Given the description of an element on the screen output the (x, y) to click on. 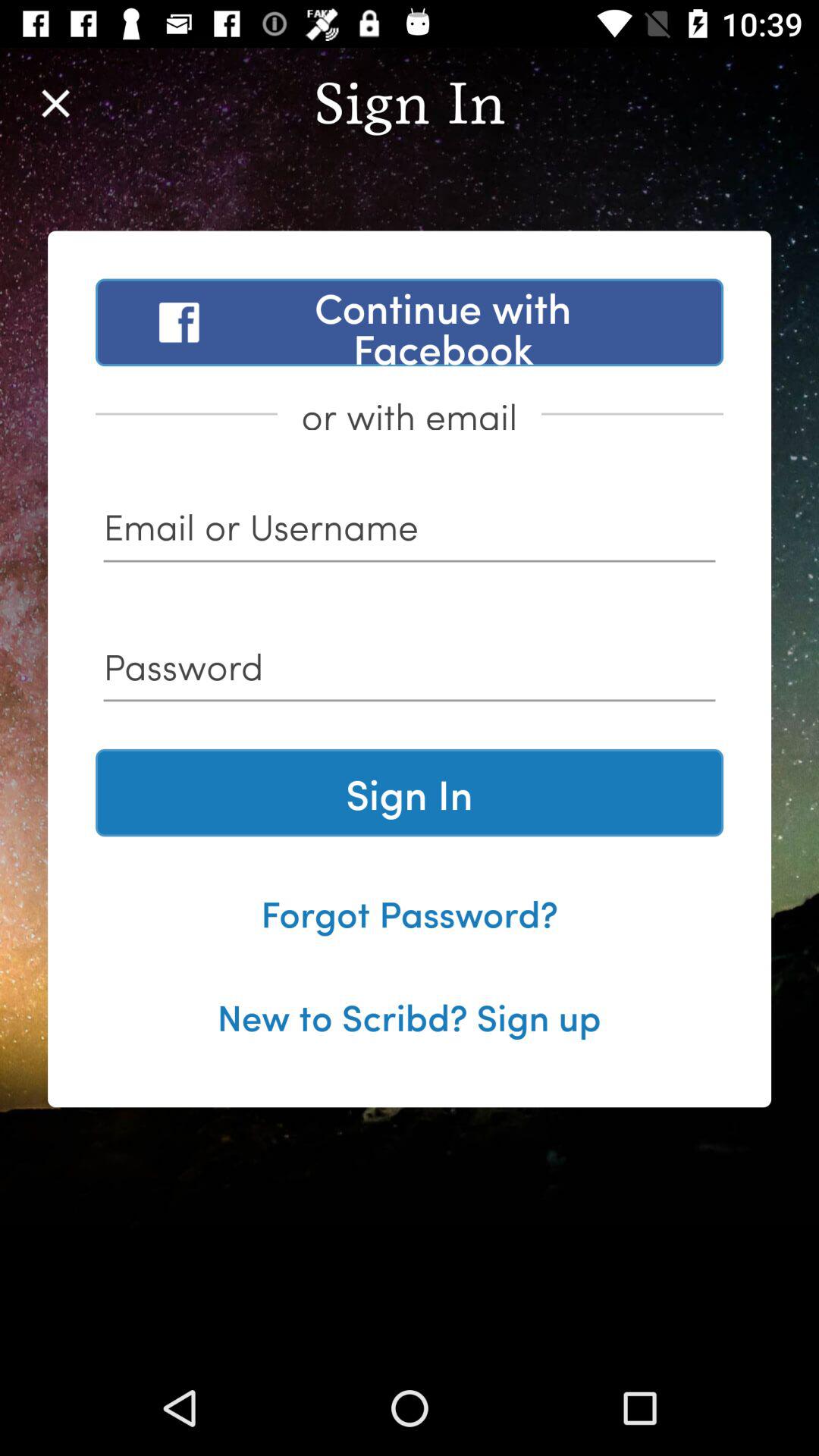
enter your username (409, 531)
